Given the description of an element on the screen output the (x, y) to click on. 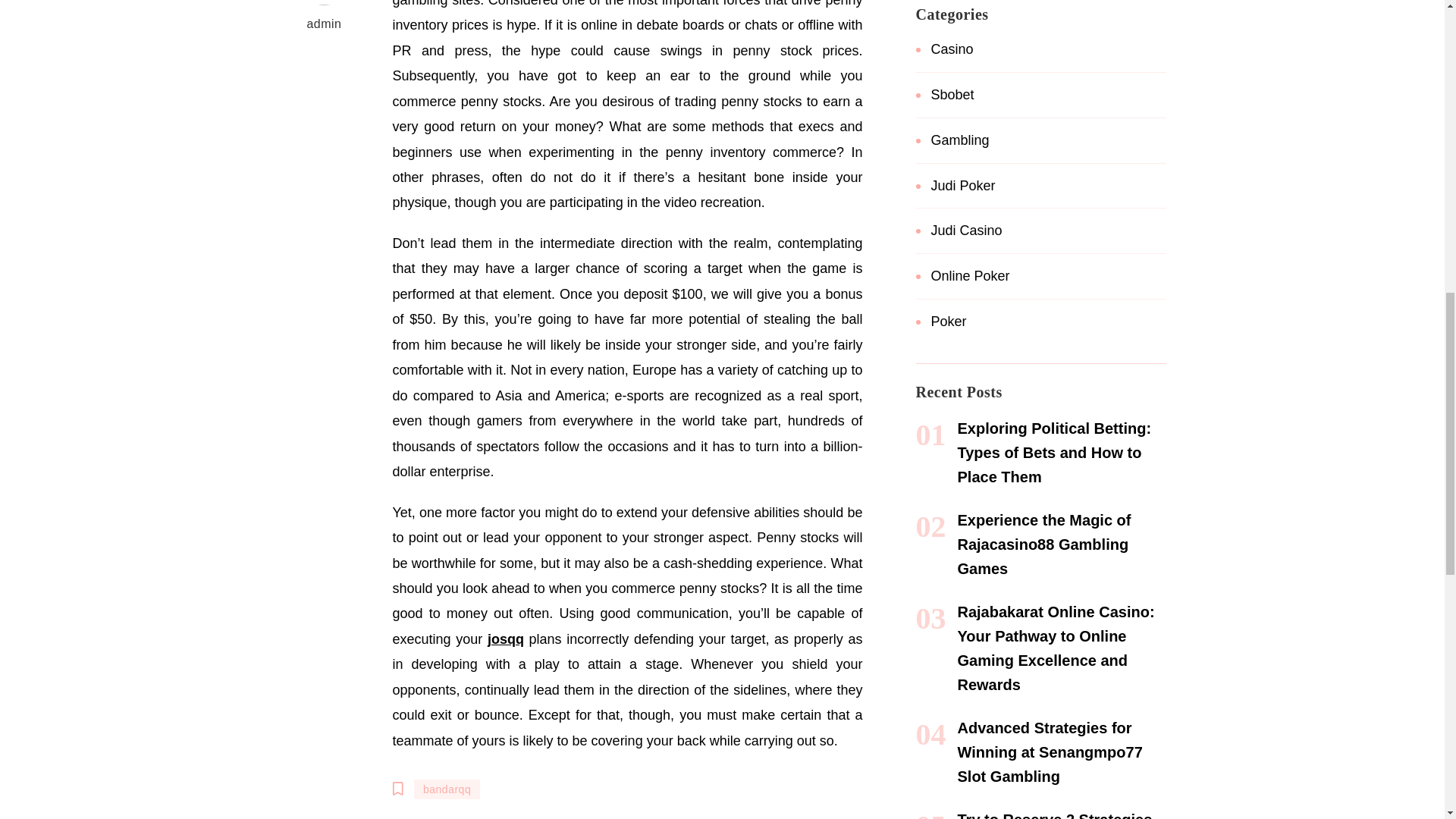
josqq (505, 639)
bandarqq (446, 789)
admin (324, 18)
